Given the description of an element on the screen output the (x, y) to click on. 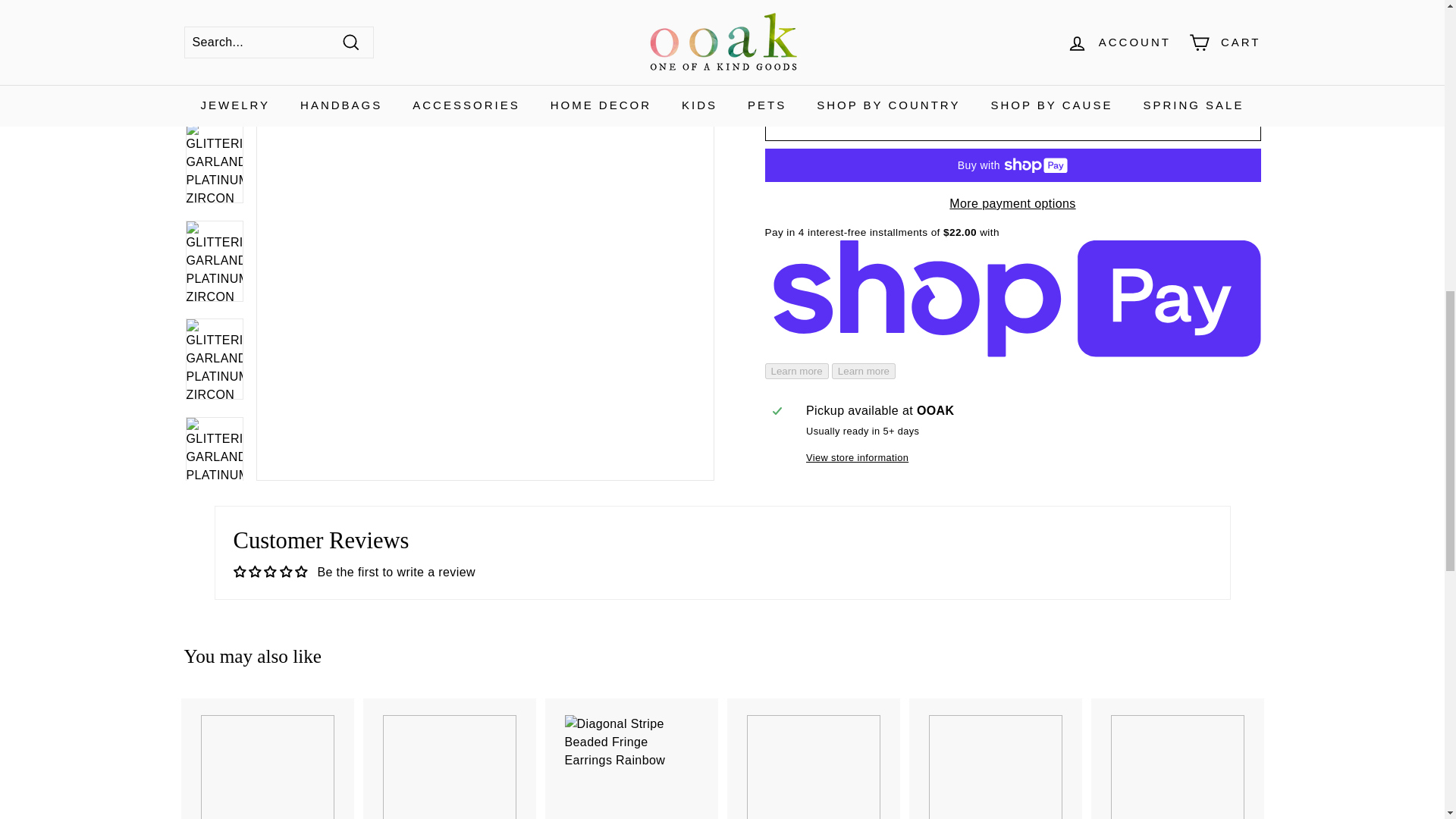
1 (790, 35)
